Given the description of an element on the screen output the (x, y) to click on. 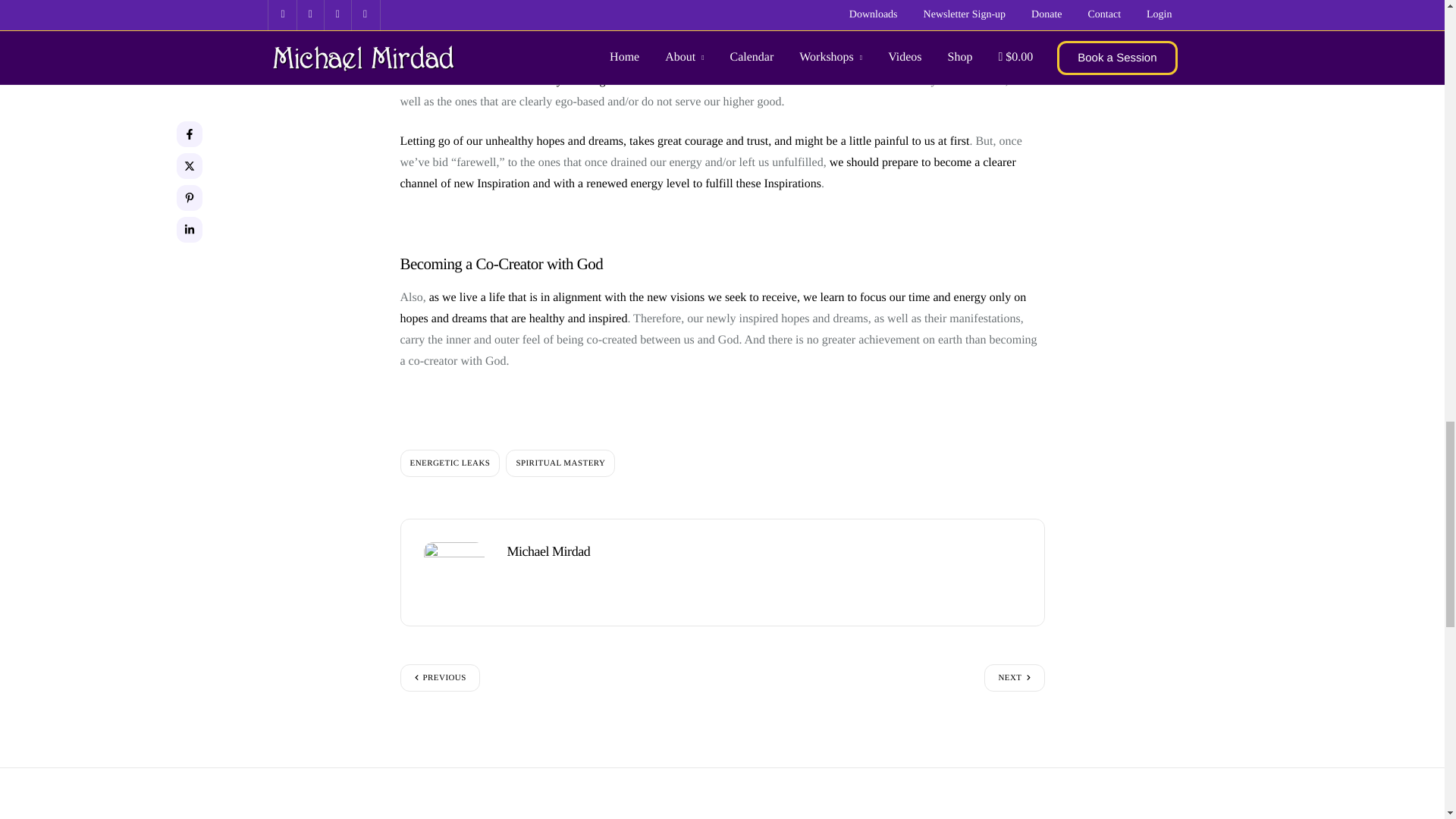
Posts by Michael Mirdad (547, 550)
